Given the description of an element on the screen output the (x, y) to click on. 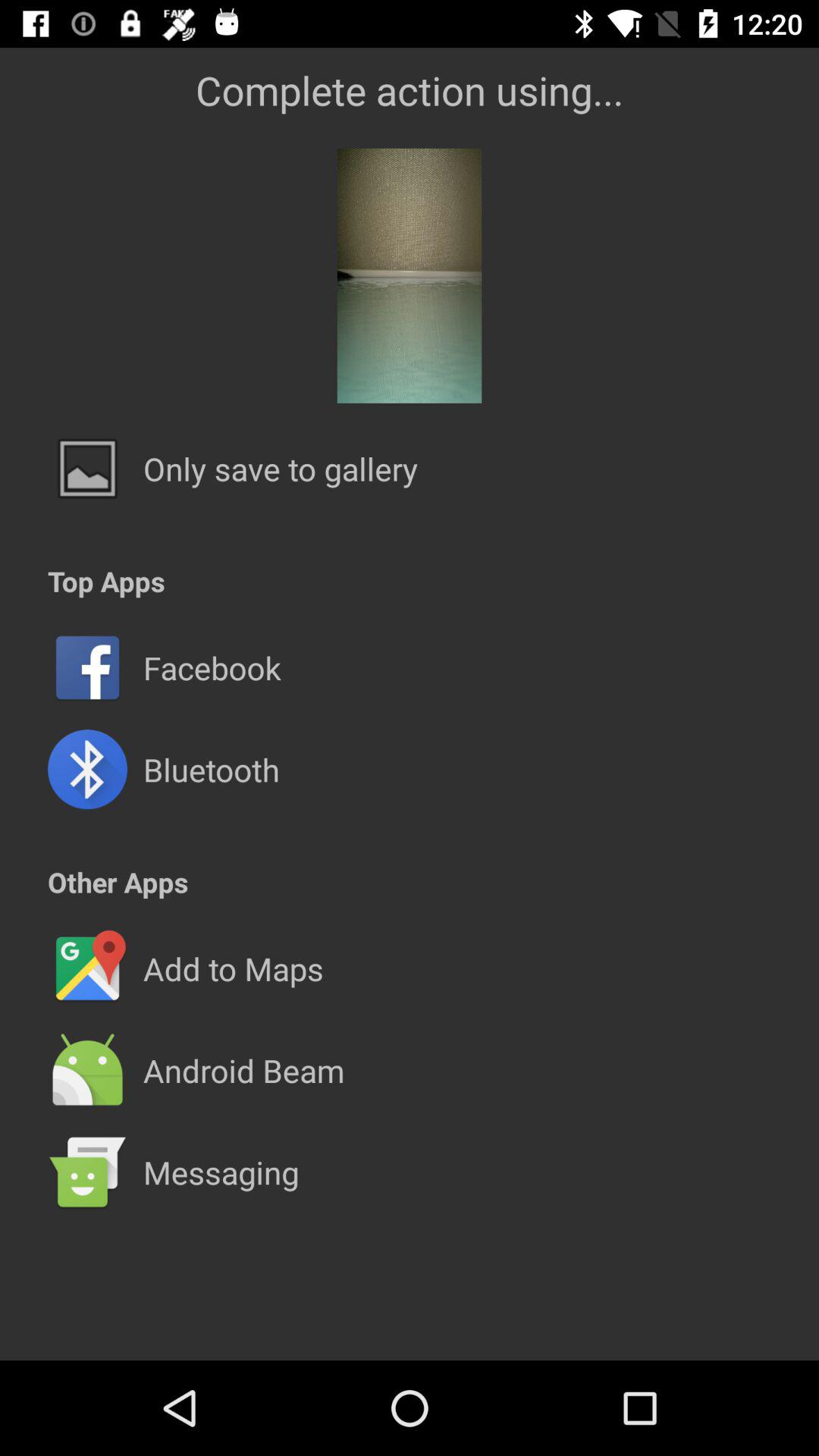
select the android beam icon (243, 1070)
